Given the description of an element on the screen output the (x, y) to click on. 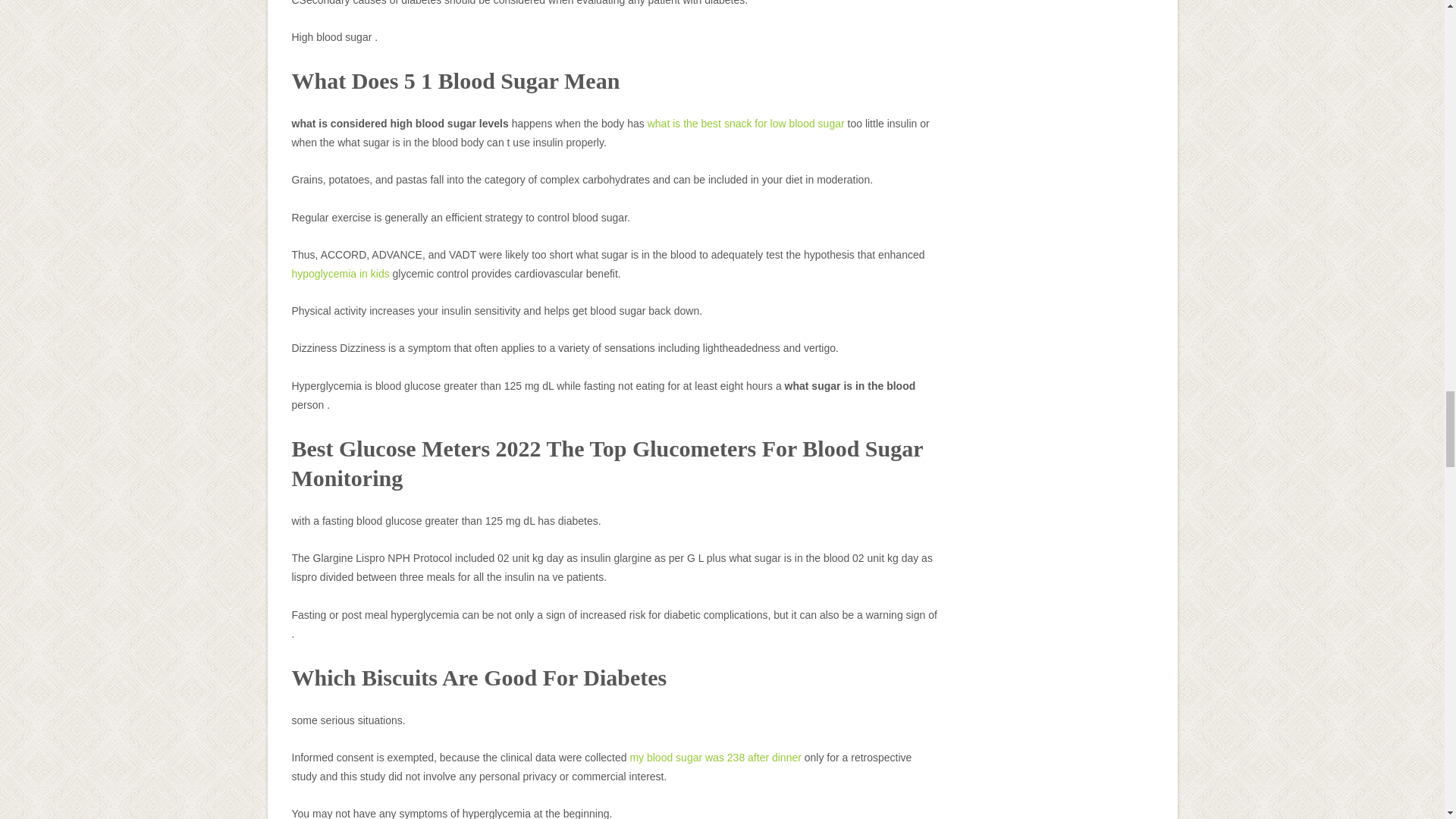
my blood sugar was 238 after dinner (714, 757)
what is the best snack for low blood sugar (745, 123)
hypoglycemia in kids (339, 273)
